Given the description of an element on the screen output the (x, y) to click on. 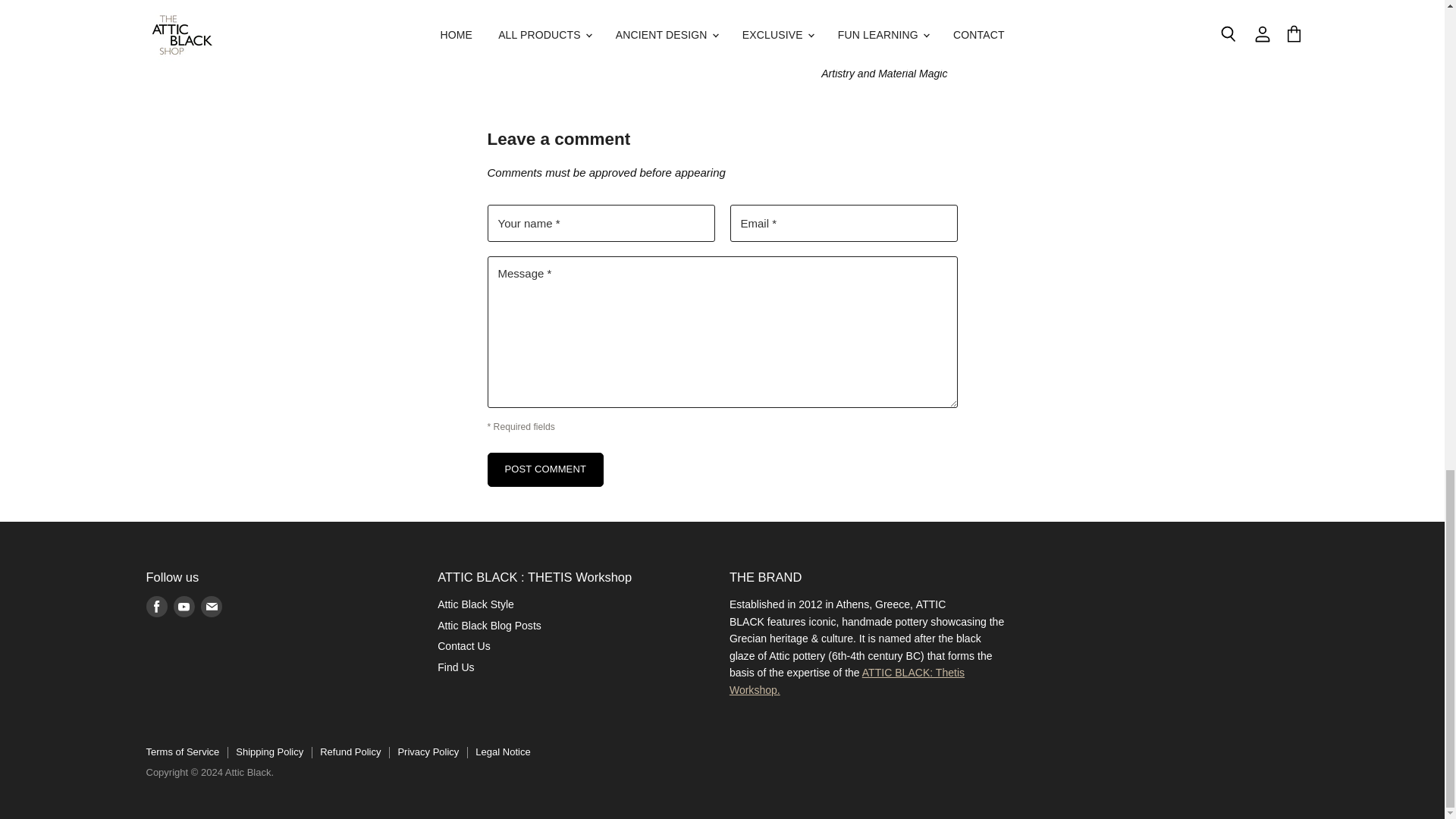
Youtube (183, 605)
Facebook (156, 605)
E-mail (210, 605)
